Given the description of an element on the screen output the (x, y) to click on. 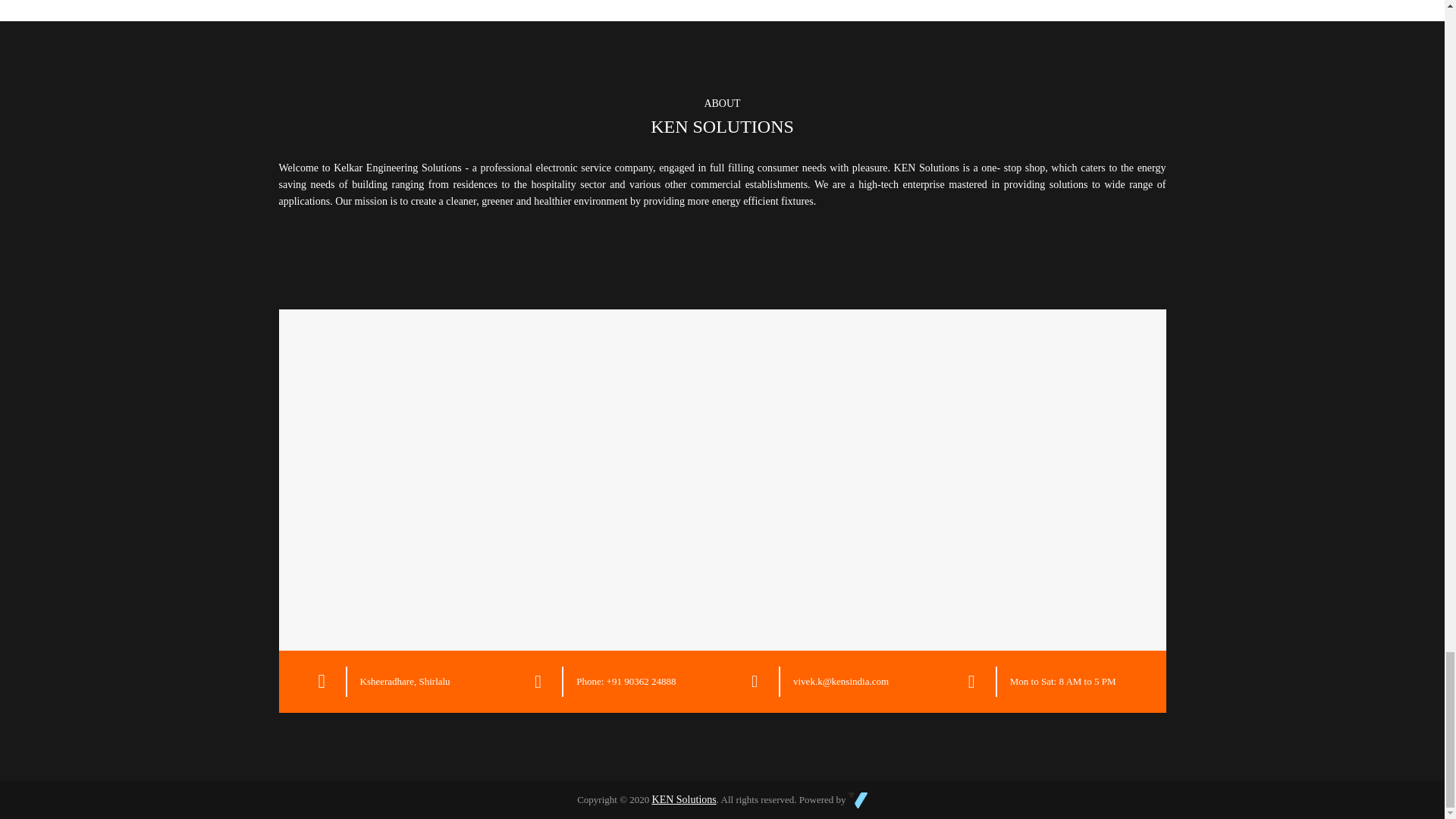
Vessel (857, 800)
